Given the description of an element on the screen output the (x, y) to click on. 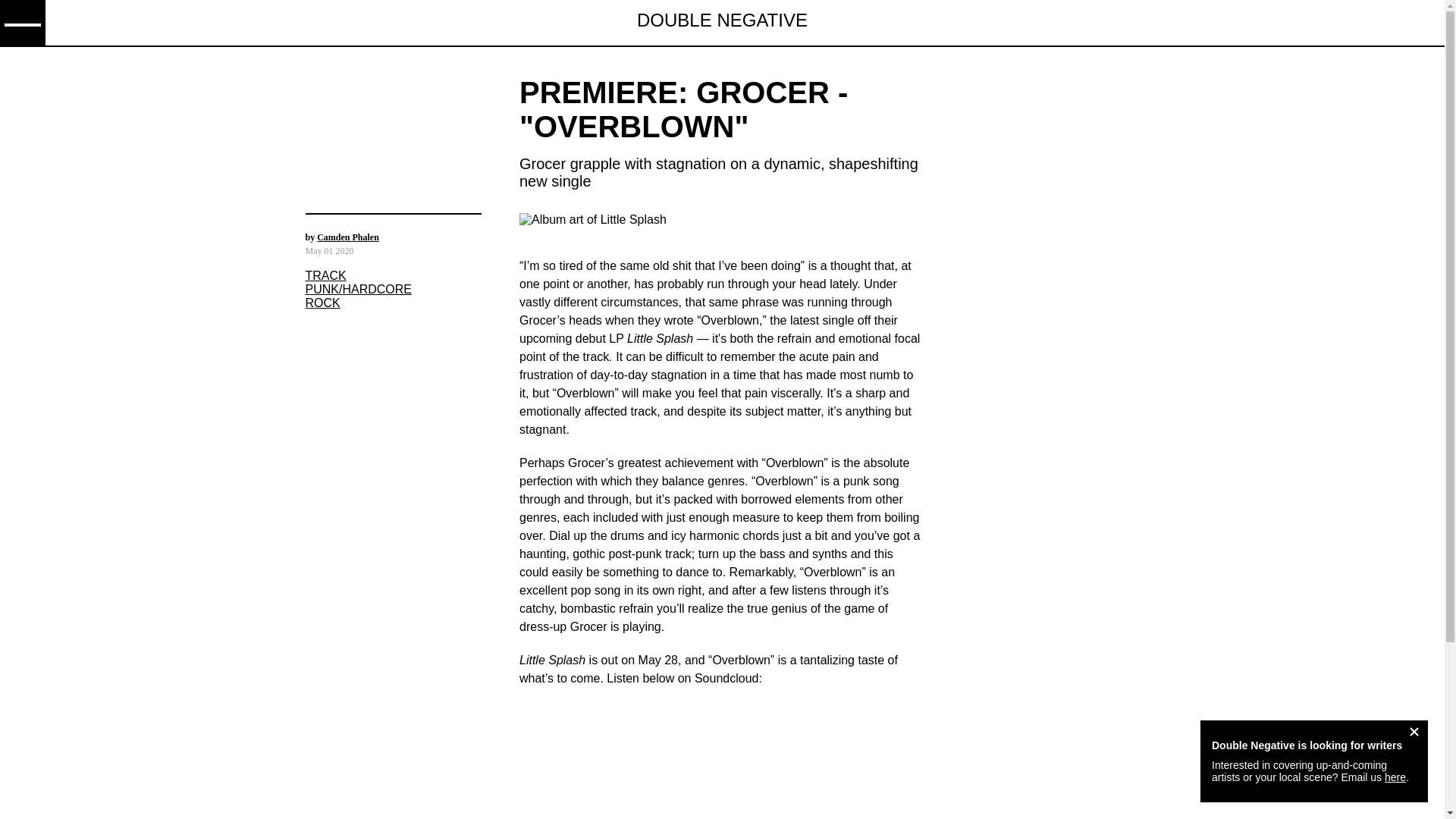
here Element type: text (1394, 777)
PUNK/HARDCORE Element type: text (357, 288)
ROCK Element type: text (321, 302)
TRACK Element type: text (324, 275)
DOUBLE NEGATIVE Element type: text (722, 22)
Camden Phalen Element type: text (347, 237)
